Given the description of an element on the screen output the (x, y) to click on. 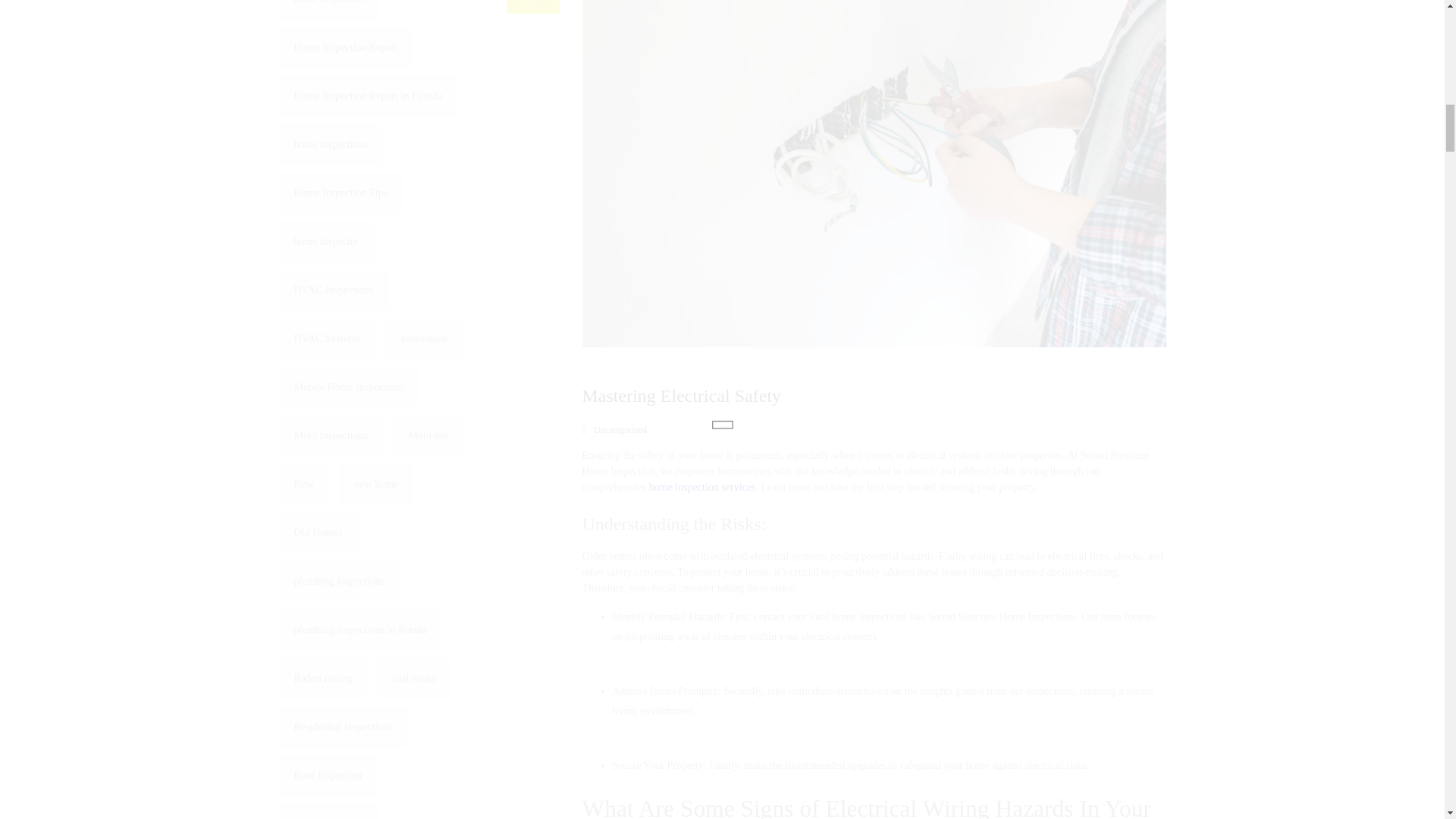
Mastering Electrical Safety (681, 395)
home inspection services (532, 6)
Uncategorized (702, 487)
